Given the description of an element on the screen output the (x, y) to click on. 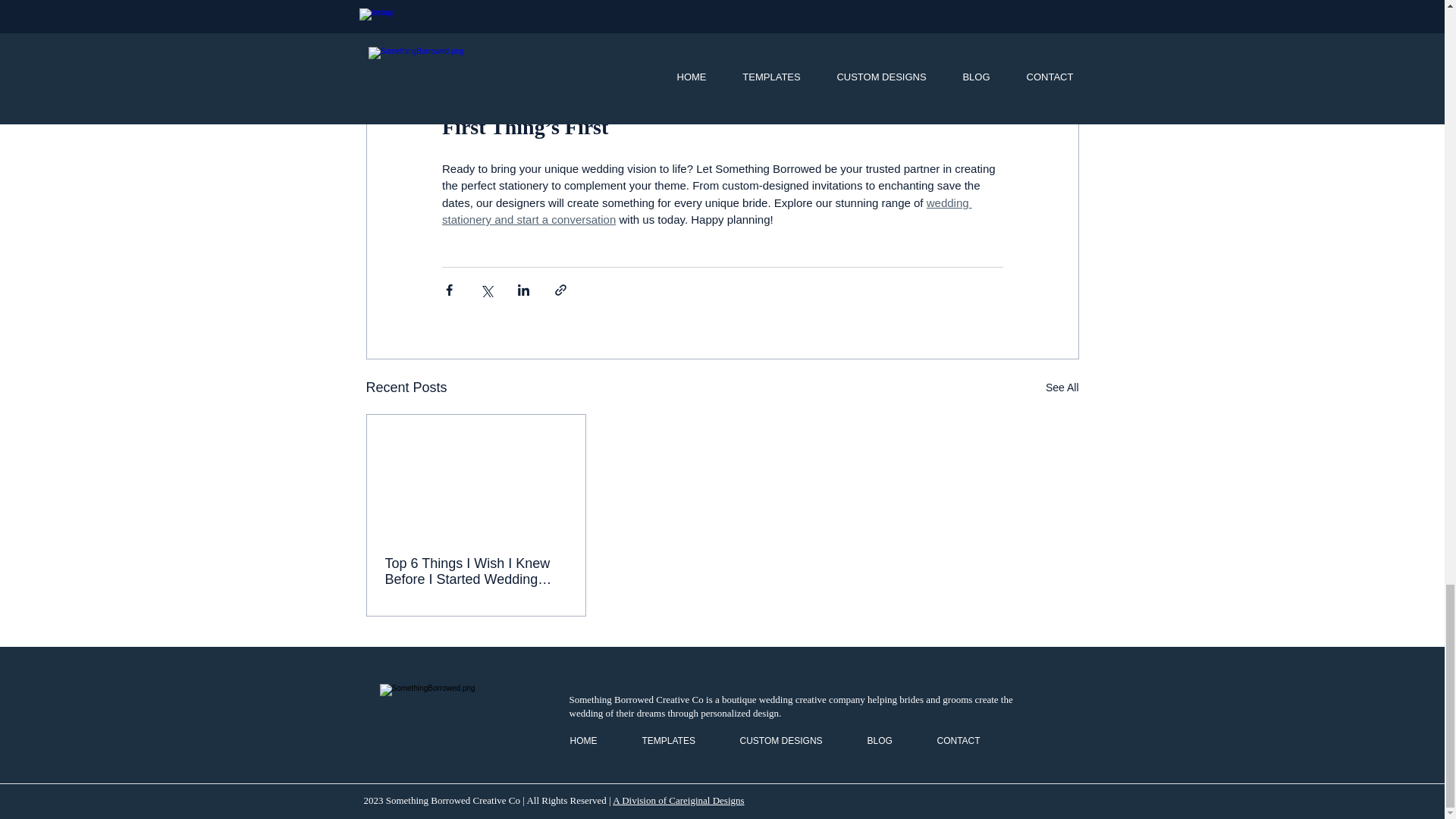
BLOG (890, 740)
A Division of Careiginal Designs (678, 799)
See All (1061, 387)
TEMPLATES (679, 740)
CUSTOM DESIGNS (792, 740)
Top 6 Things I Wish I Knew Before I Started Wedding Planning (476, 572)
CONTACT (968, 740)
wedding stationery and start a conversation (706, 211)
HOME (593, 740)
